Given the description of an element on the screen output the (x, y) to click on. 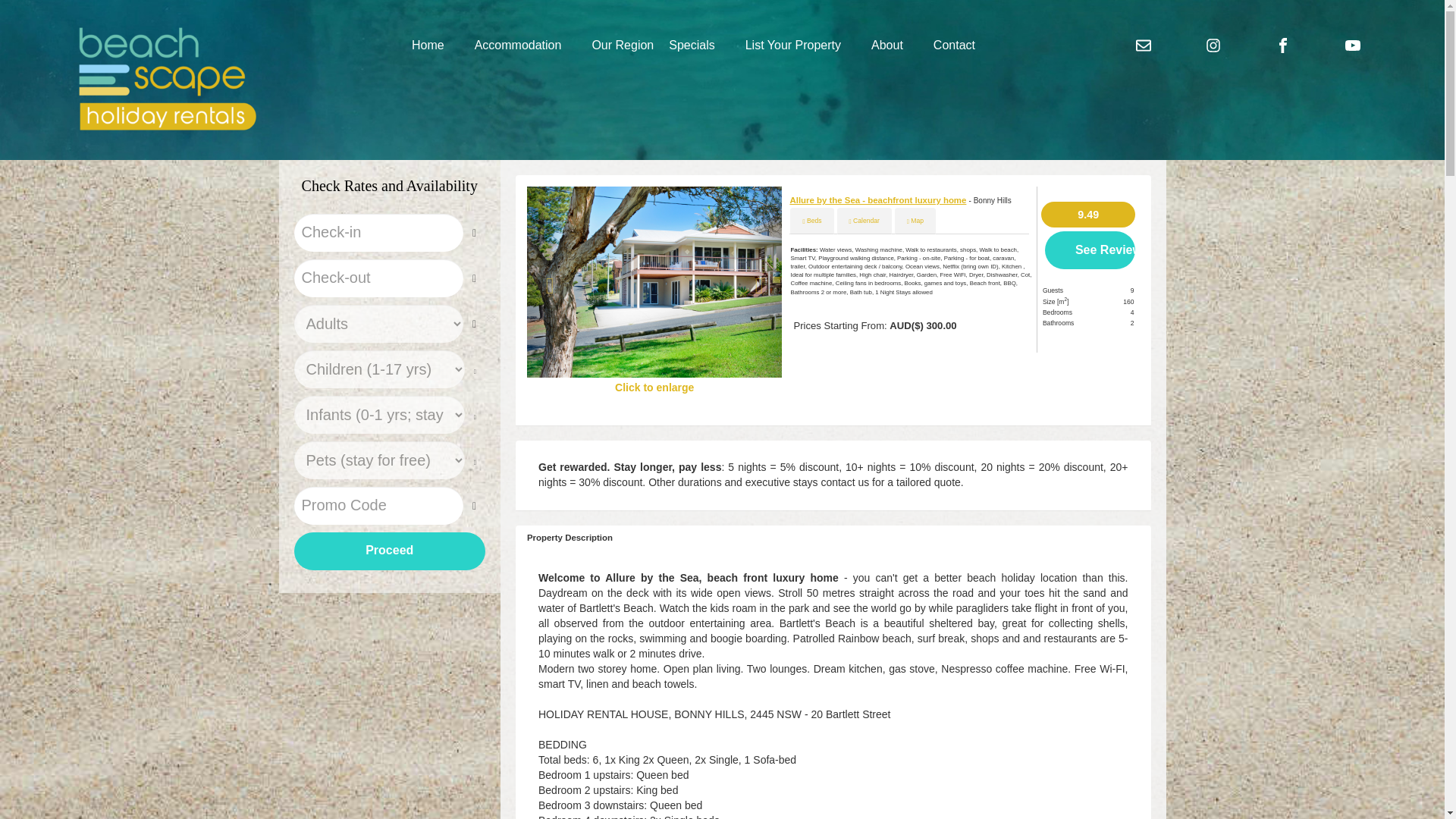
Home (428, 45)
Calendar (864, 220)
Check-out (378, 278)
Beds (811, 220)
Specials (691, 45)
Promo Code (378, 505)
Our Region (614, 45)
Proceed (390, 551)
Map (915, 220)
See Reviews (1090, 249)
Accommodation (518, 45)
Adults (378, 323)
List Your Property (793, 45)
Proceed (390, 551)
